Given the description of an element on the screen output the (x, y) to click on. 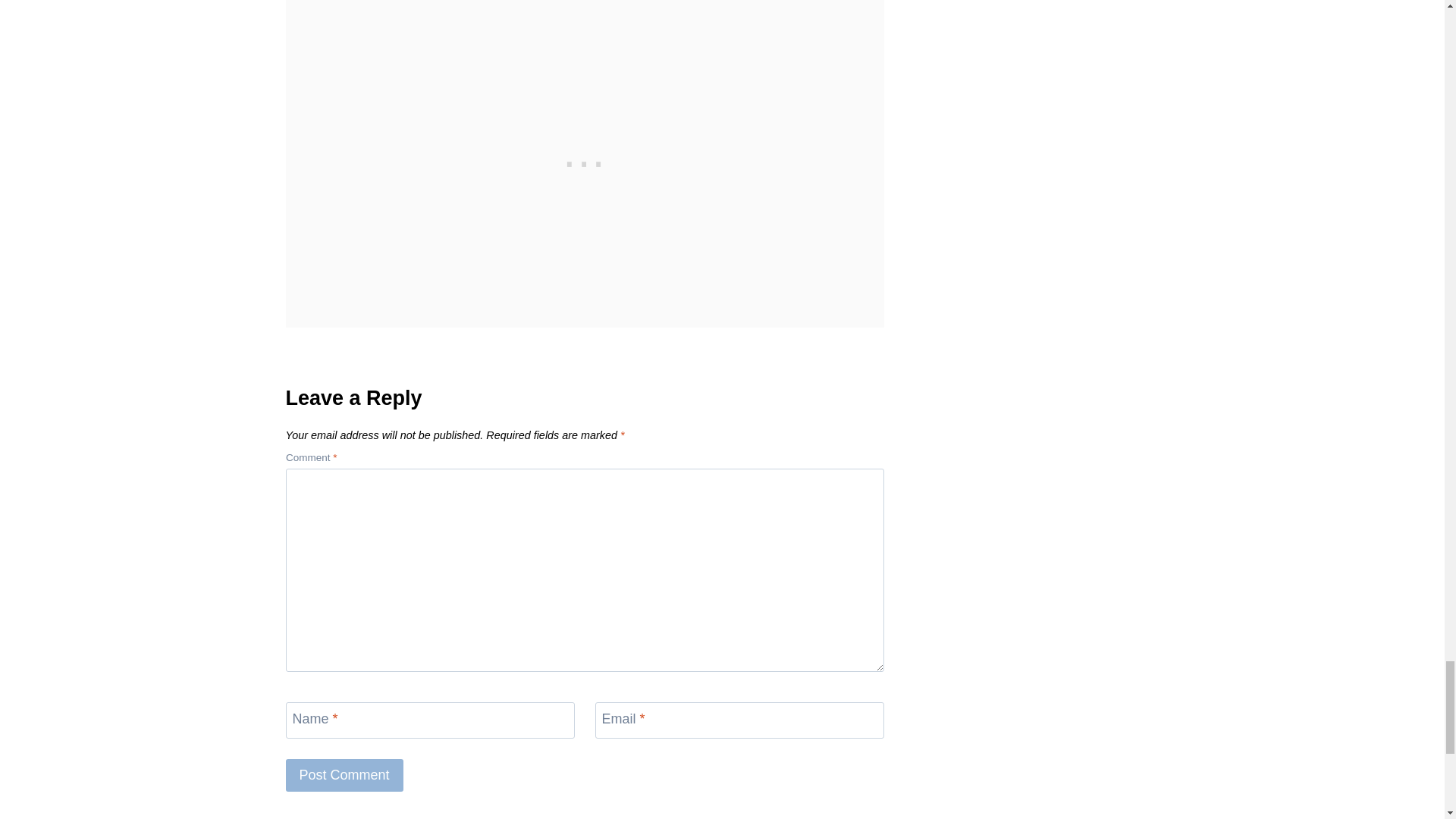
Post Comment (344, 775)
